Given the description of an element on the screen output the (x, y) to click on. 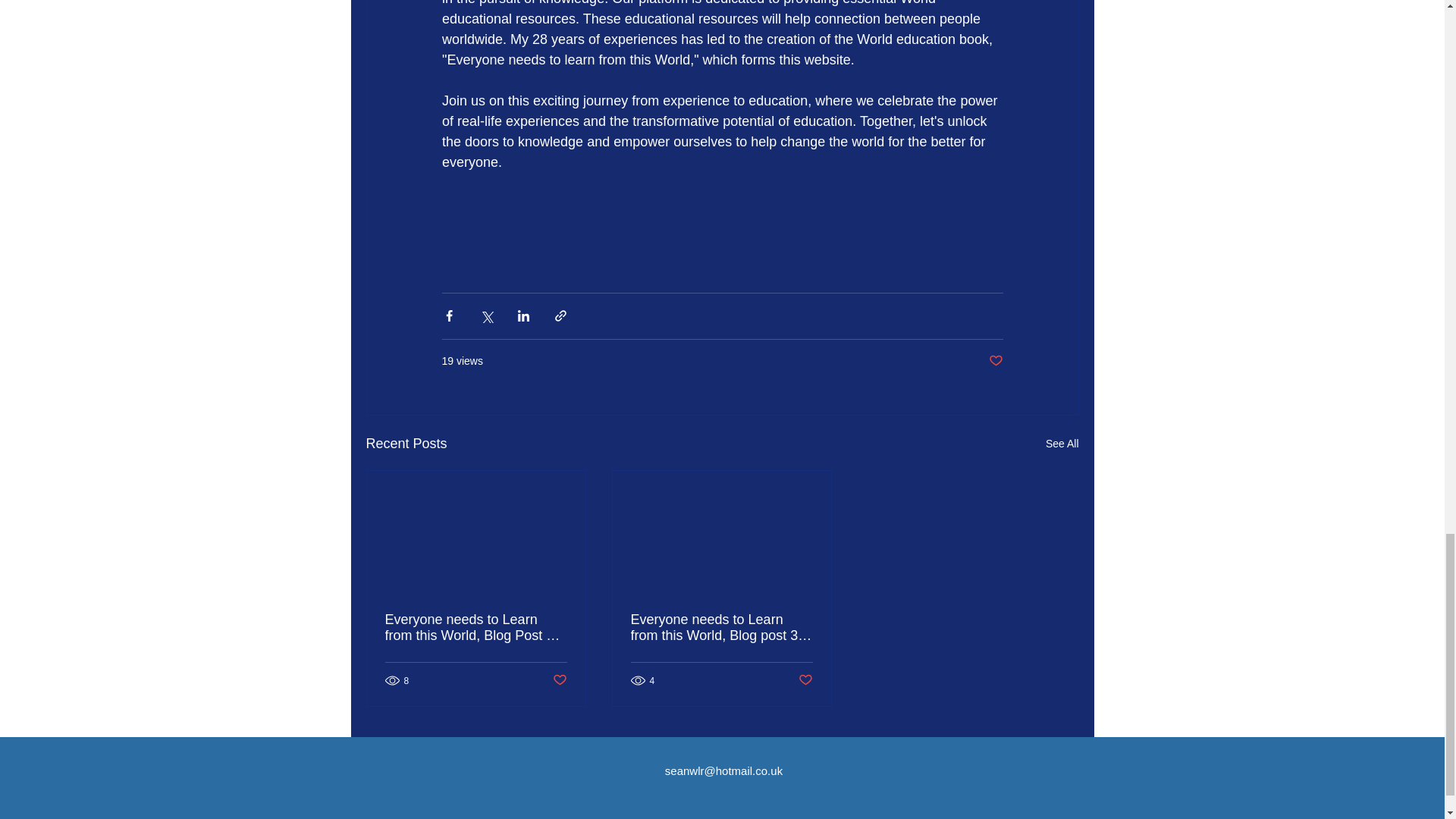
See All (1061, 444)
Post not marked as liked (558, 680)
Post not marked as liked (804, 680)
Post not marked as liked (995, 360)
